Given the description of an element on the screen output the (x, y) to click on. 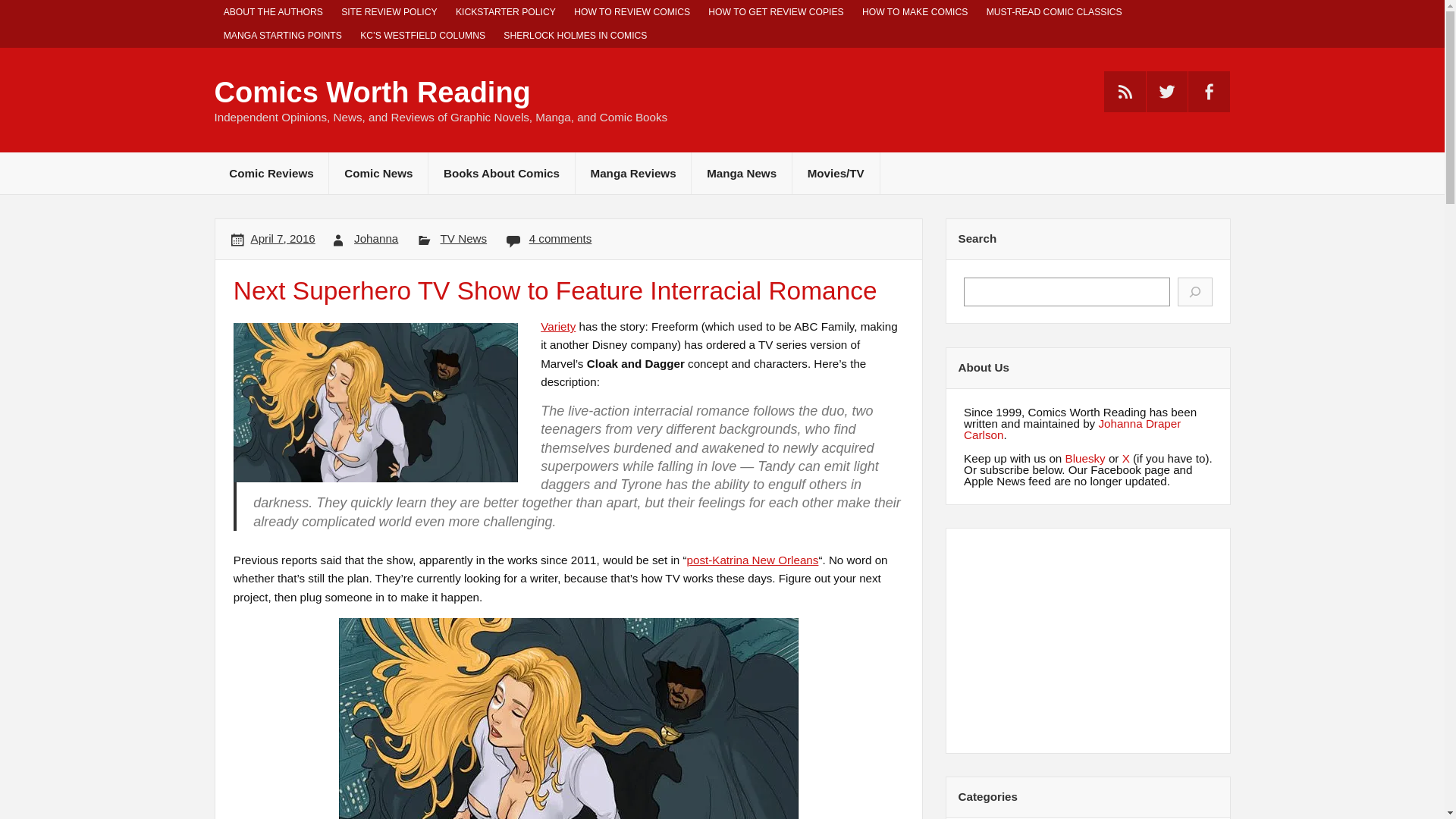
SITE REVIEW POLICY (388, 12)
Comics Worth Reading (371, 92)
Manga Reviews (633, 173)
KICKSTARTER POLICY (505, 12)
View all posts by Johanna (375, 237)
ABOUT THE AUTHORS (272, 12)
April 7, 2016 (282, 237)
4:25 pm (282, 237)
Comic News (378, 173)
HOW TO REVIEW COMICS (631, 12)
